Given the description of an element on the screen output the (x, y) to click on. 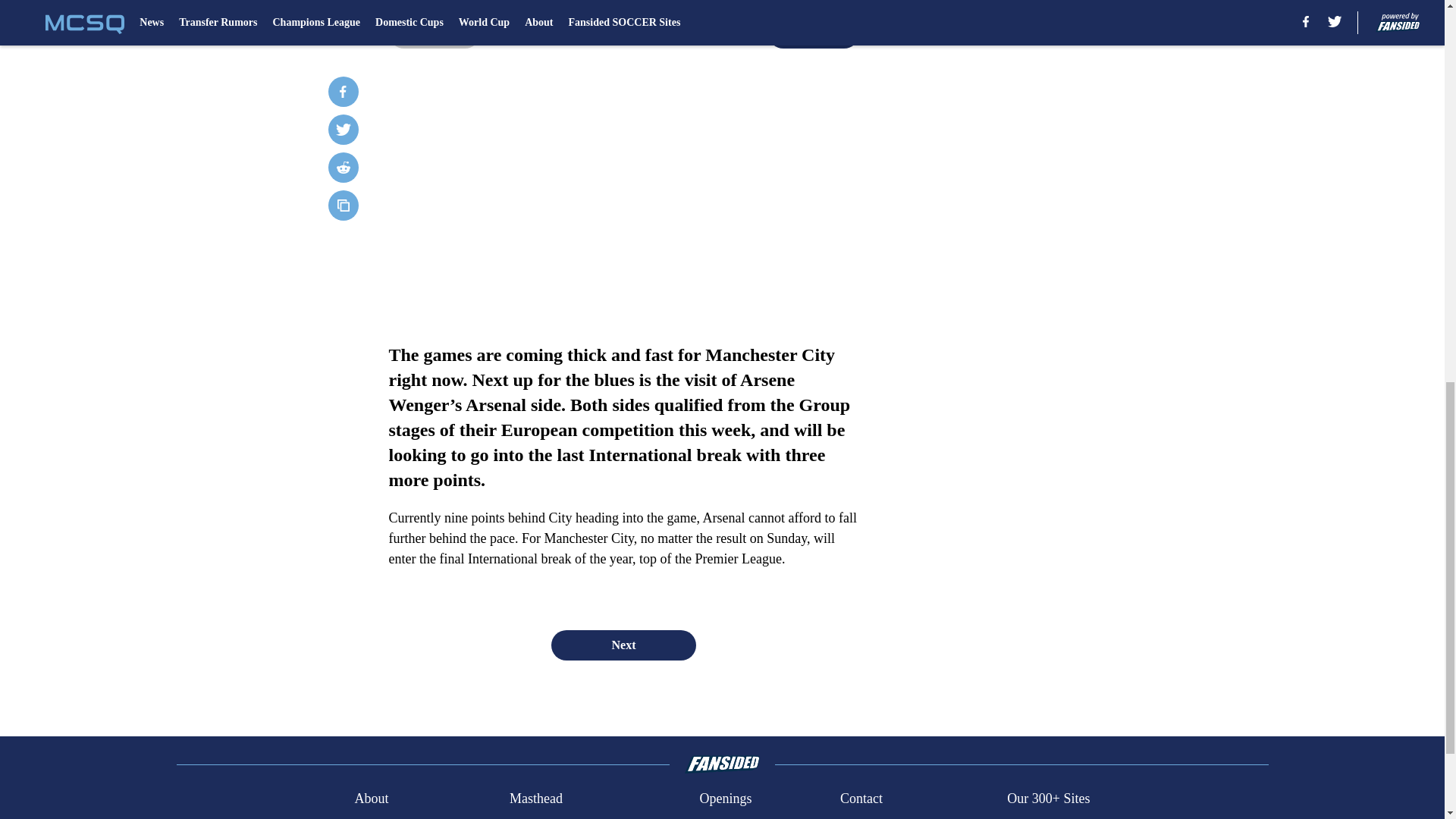
About (370, 798)
Privacy Policy (738, 817)
Pitch a Story (544, 817)
Prev (433, 33)
FanSided Daily (396, 817)
Masthead (535, 798)
Openings (724, 798)
Cookie Policy (1045, 817)
Terms of Use (877, 817)
Next (622, 644)
Next (813, 33)
Contact (861, 798)
